Given the description of an element on the screen output the (x, y) to click on. 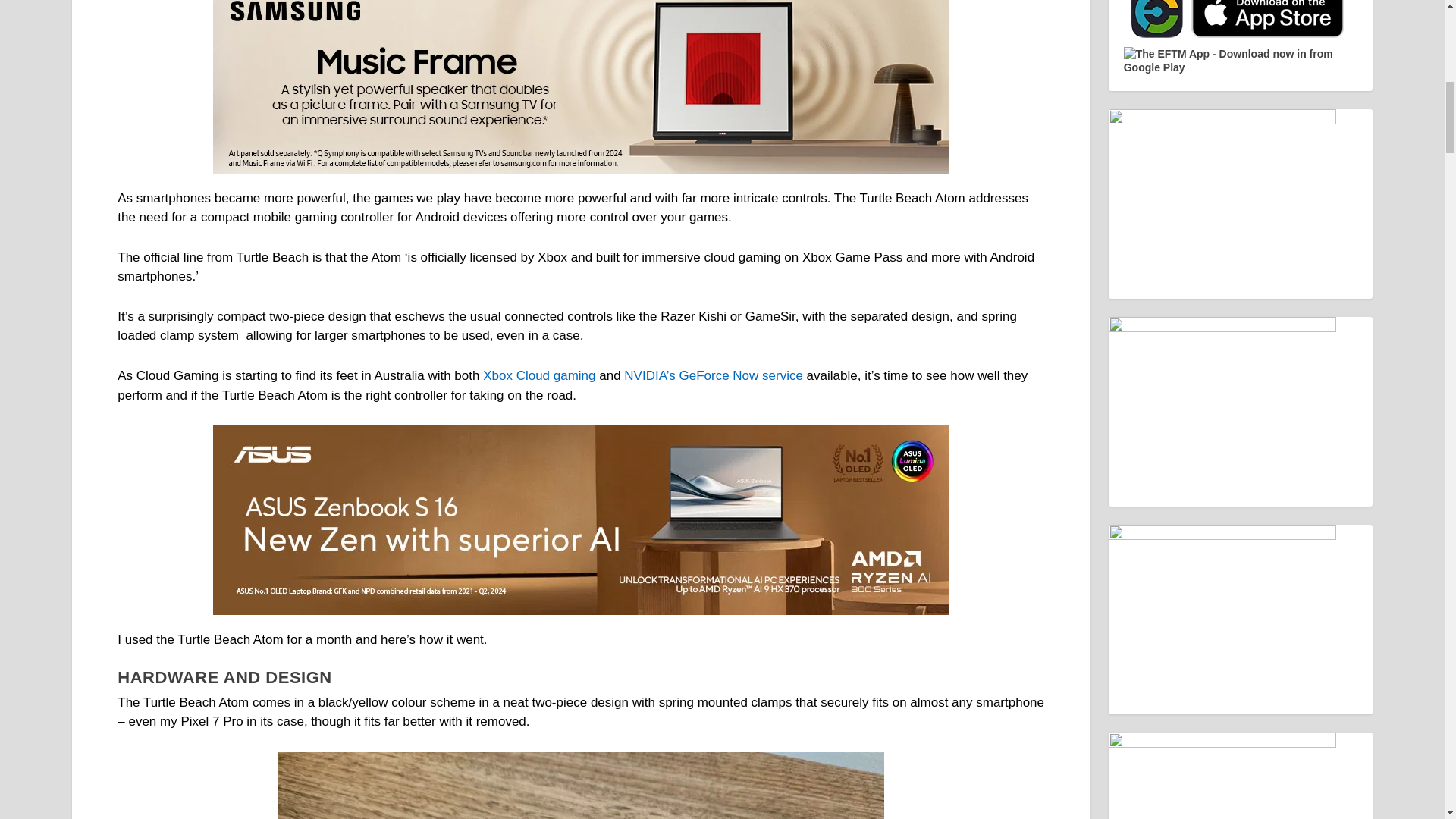
Xbox Cloud gaming (539, 375)
